Given the description of an element on the screen output the (x, y) to click on. 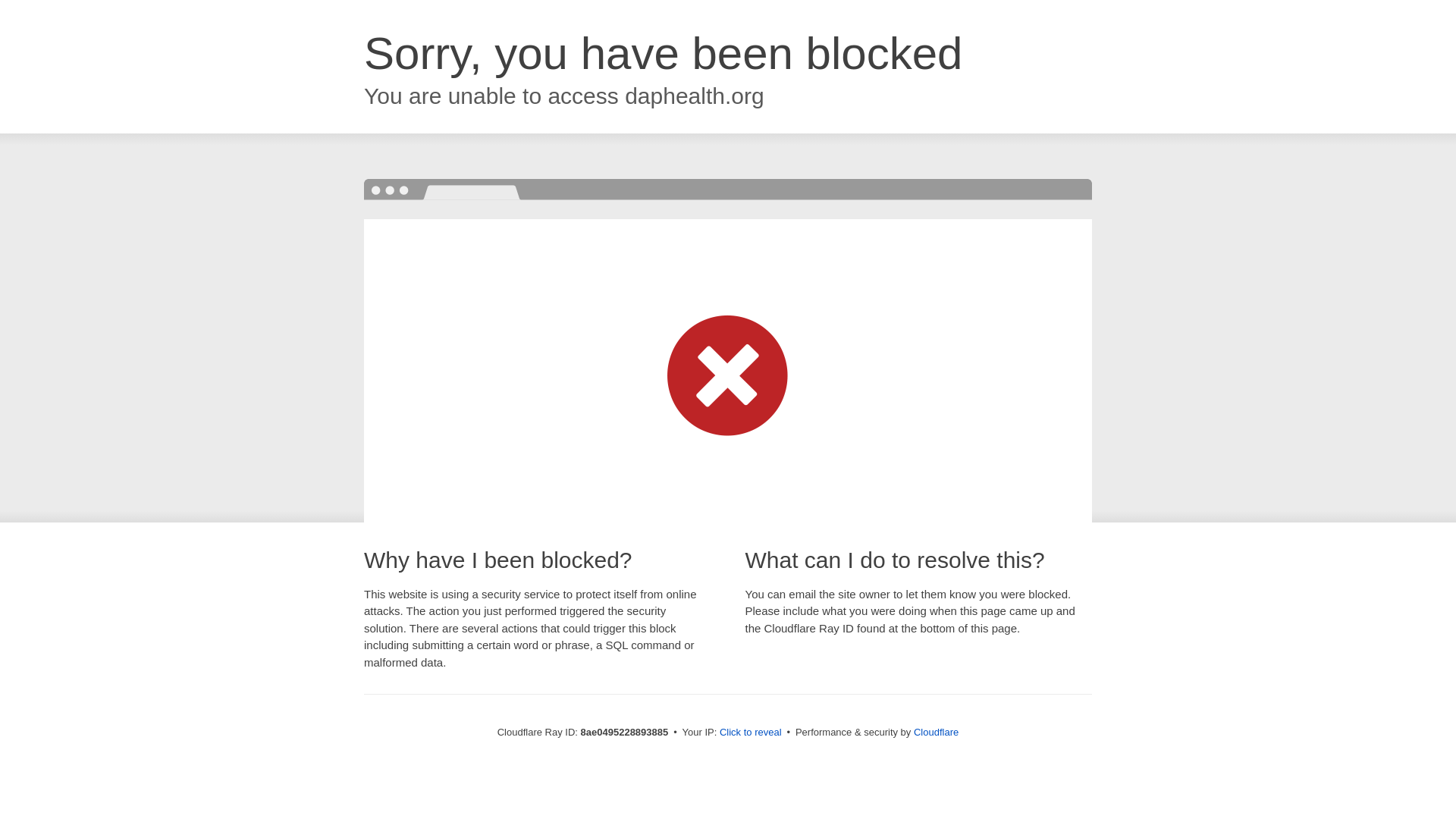
Cloudflare (936, 731)
Click to reveal (750, 732)
